Given the description of an element on the screen output the (x, y) to click on. 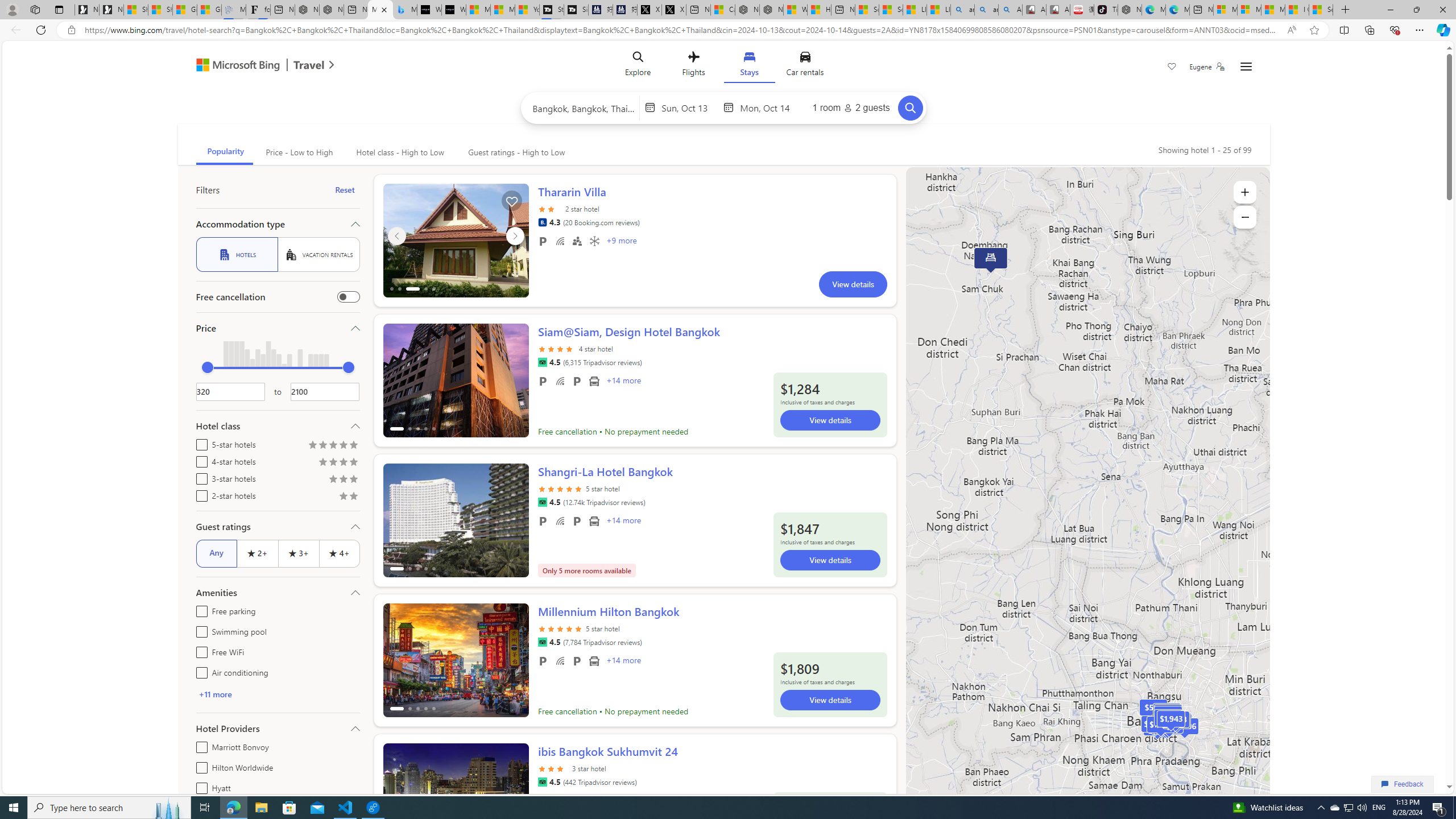
Hotel Providers (277, 728)
Family friendly (577, 240)
Explore (637, 65)
ScrollLeft (396, 795)
Tripadvisor (542, 781)
4-star hotels (199, 459)
I Gained 20 Pounds of Muscle in 30 Days! | Watch (1296, 9)
